Given the description of an element on the screen output the (x, y) to click on. 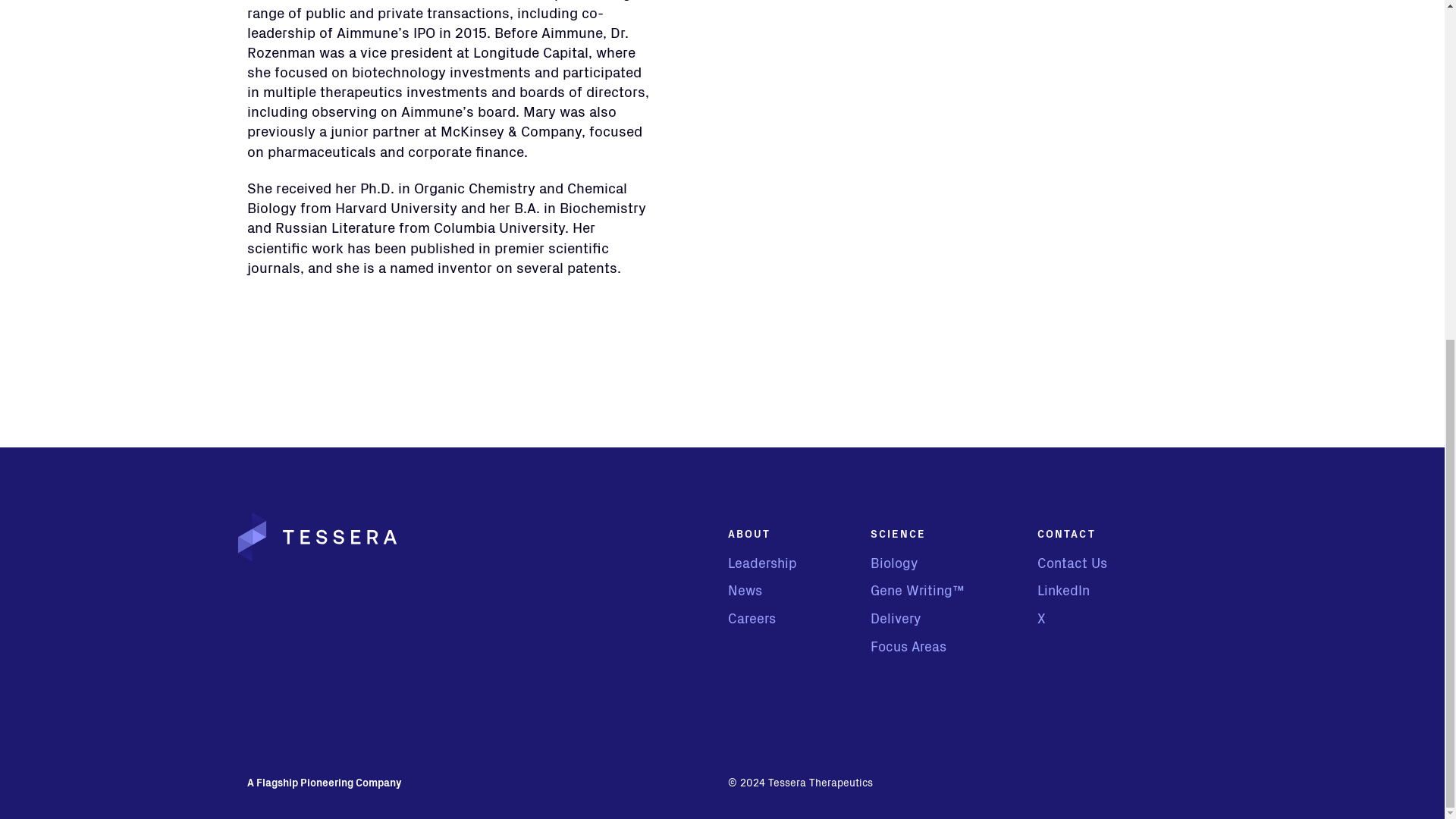
Tessera Therapeutics Home (317, 536)
Leadership (762, 563)
Focus Areas (908, 647)
Biology (893, 563)
Delivery (895, 618)
News (744, 590)
Careers (752, 618)
Contact Us (1071, 563)
LinkedIn (1062, 590)
